Given the description of an element on the screen output the (x, y) to click on. 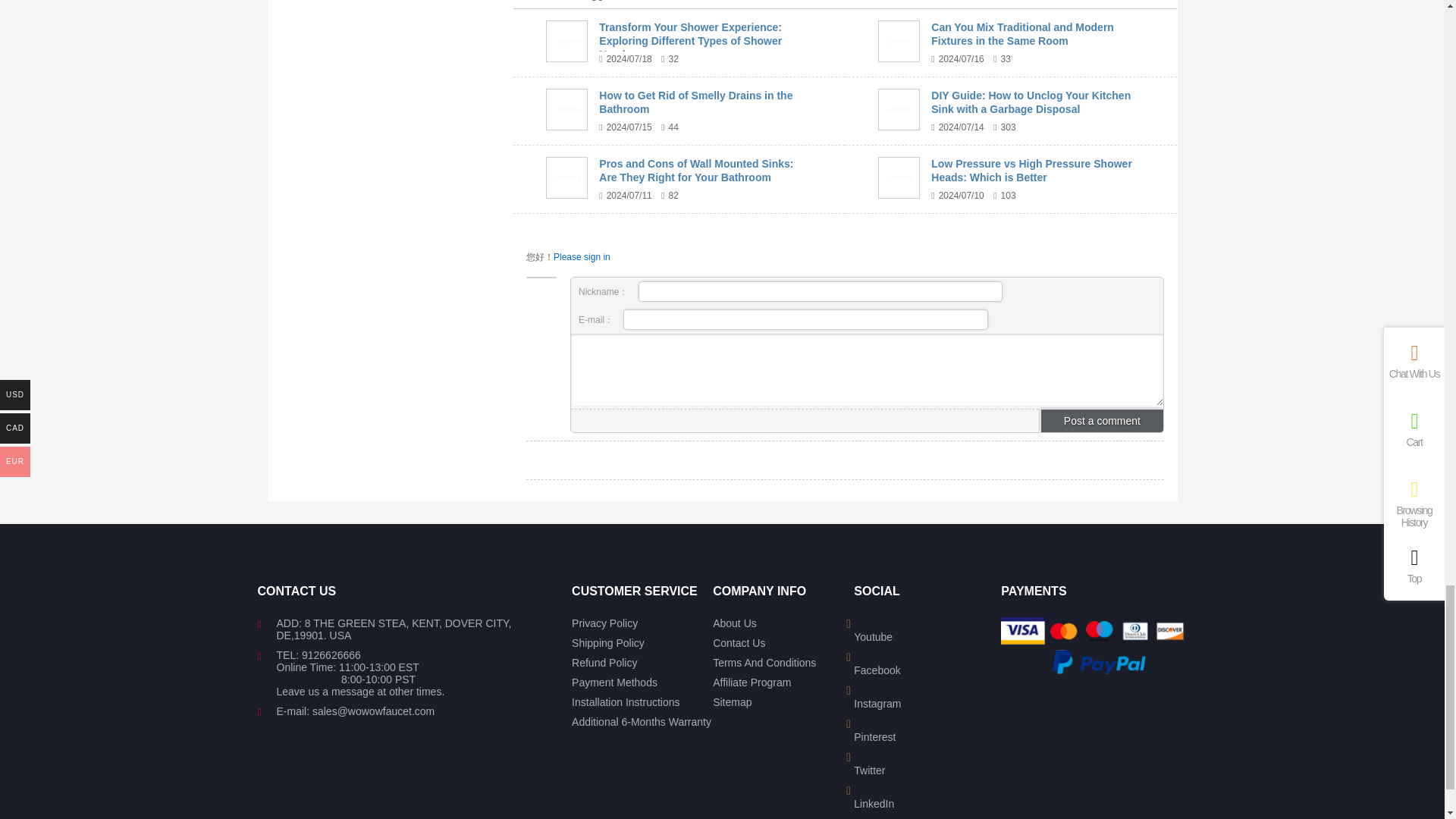
Low Pressure vs High Pressure Shower Heads: Which is Better (899, 177)
Can You Mix Traditional and Modern Fixtures in the Same Room (899, 40)
How to Get Rid of Smelly Drains in the Bathroom (567, 108)
Add emoticons (584, 421)
Post a comment (1102, 420)
